Given the description of an element on the screen output the (x, y) to click on. 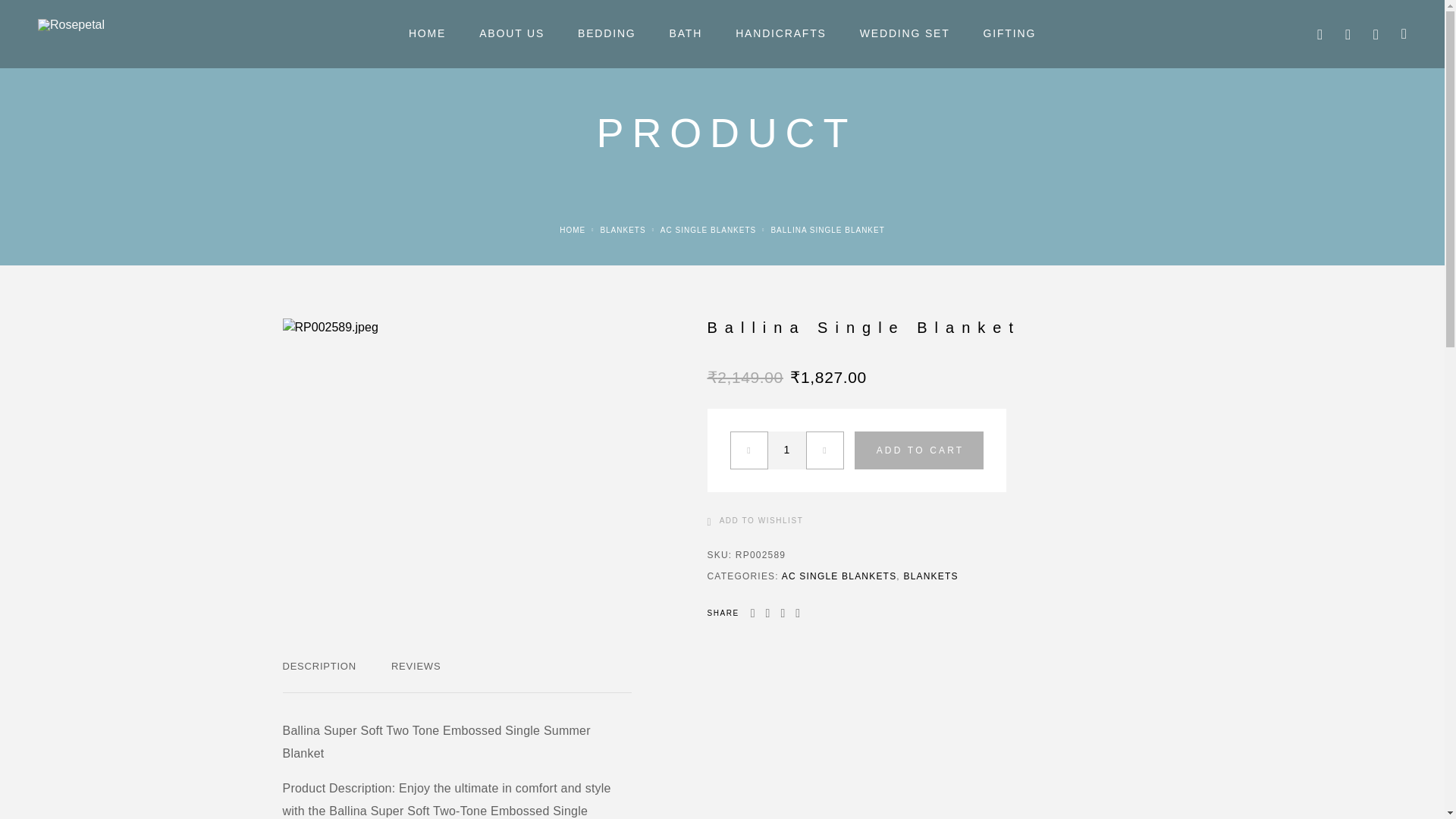
1 (786, 450)
Qty (786, 450)
